Given the description of an element on the screen output the (x, y) to click on. 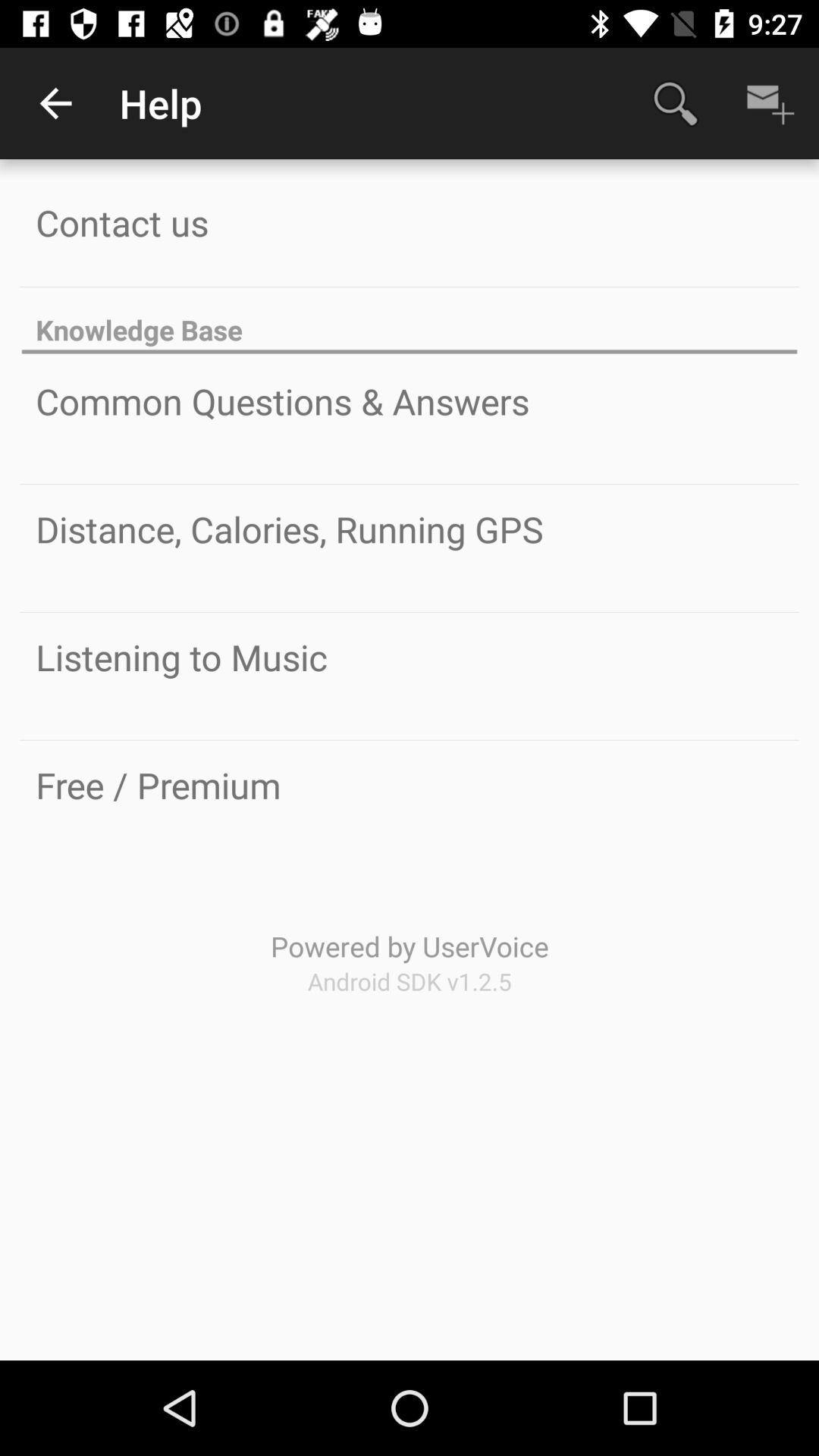
choose the free / premium item (157, 784)
